Given the description of an element on the screen output the (x, y) to click on. 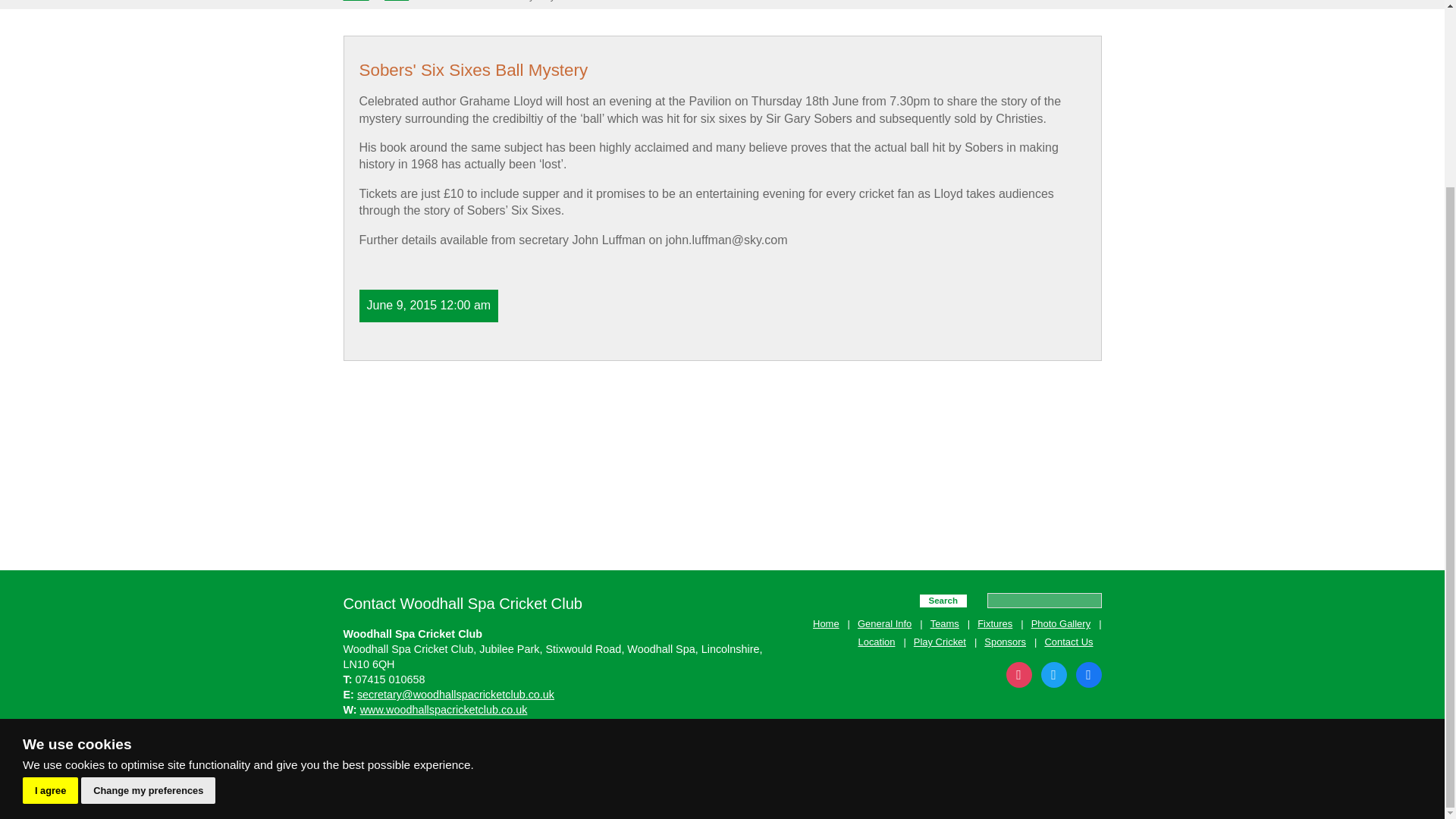
Sitemap (362, 751)
Sobers' Six Sixes Ball Mystery (489, 0)
News (396, 0)
Twitter (1053, 674)
Home (355, 0)
www.woodhallspacricketclub.co.uk (443, 709)
Home (355, 0)
Change my preferences (148, 558)
Privacy Policy (427, 751)
Facebook (1018, 674)
Instagram (1087, 674)
I agree (50, 558)
